Given the description of an element on the screen output the (x, y) to click on. 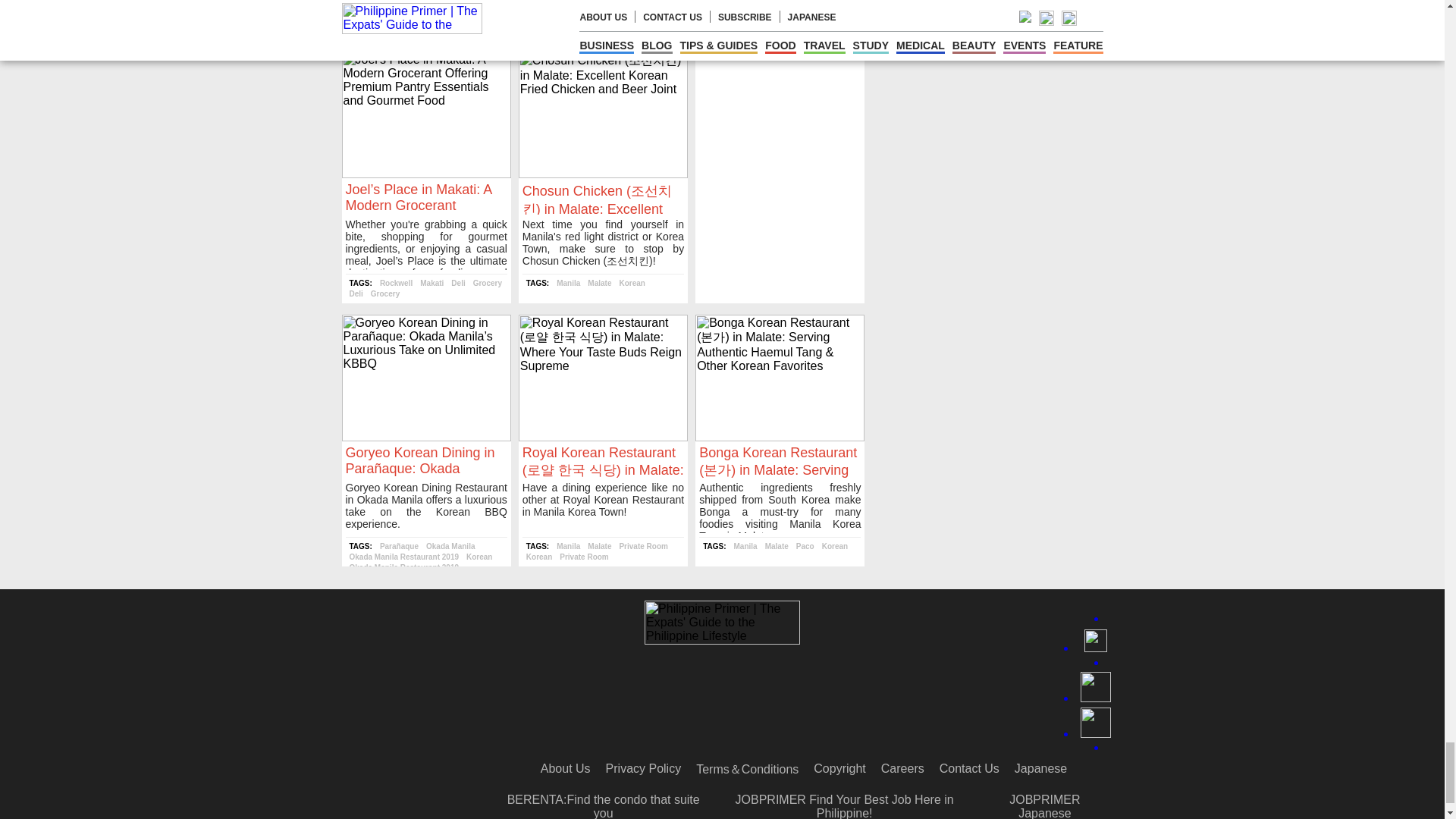
Makati (432, 283)
Grocery (487, 283)
Deli (457, 283)
Rockwell (396, 283)
